Given the description of an element on the screen output the (x, y) to click on. 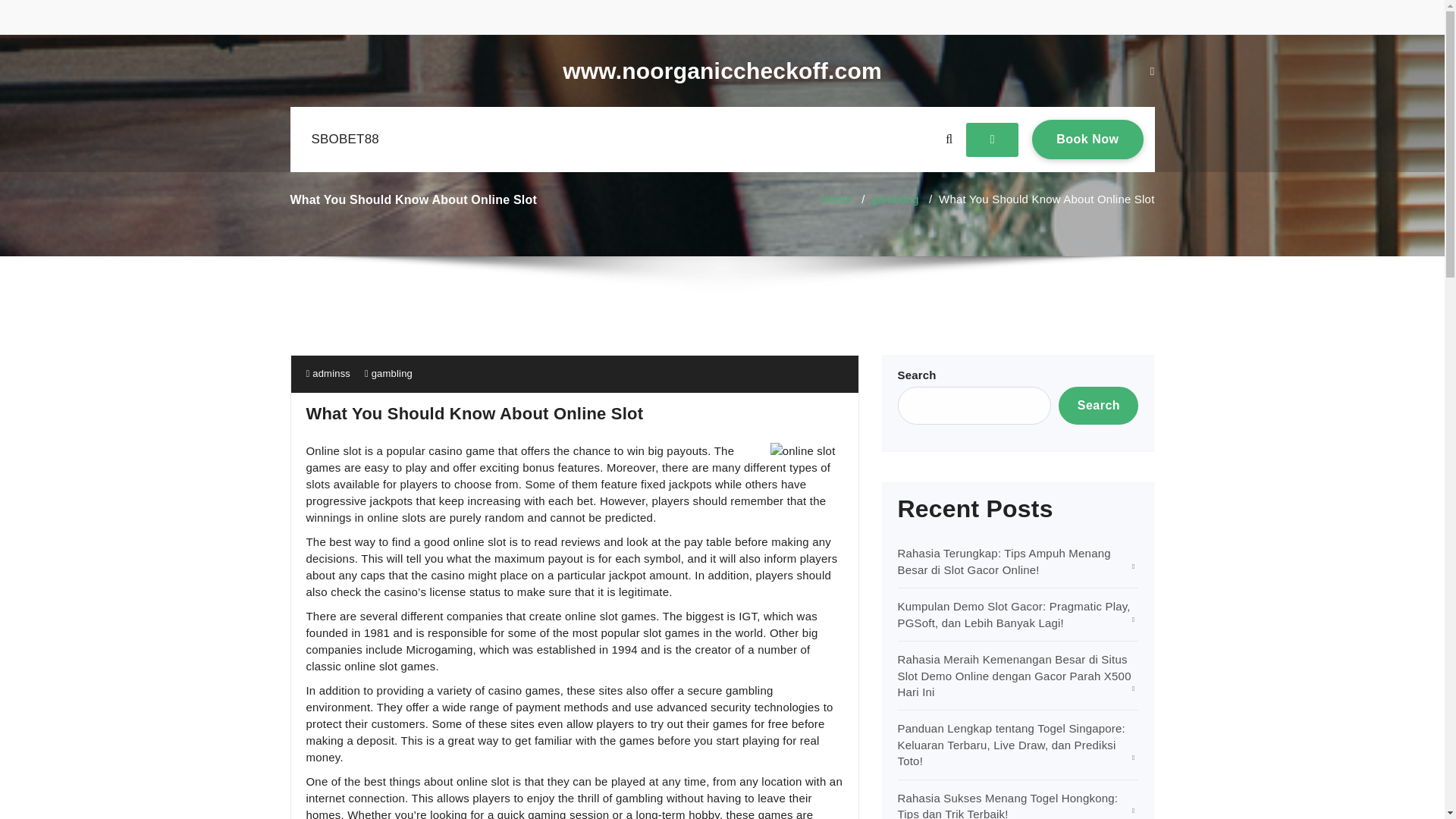
gambling (1087, 138)
Home (391, 373)
gambling (836, 198)
adminss (894, 198)
www.noorganiccheckoff.com (327, 373)
SBOBET88 (722, 71)
Rahasia Sukses Menang Togel Hongkong: Tips dan Trik Terbaik! (343, 139)
Search (1008, 805)
